Given the description of an element on the screen output the (x, y) to click on. 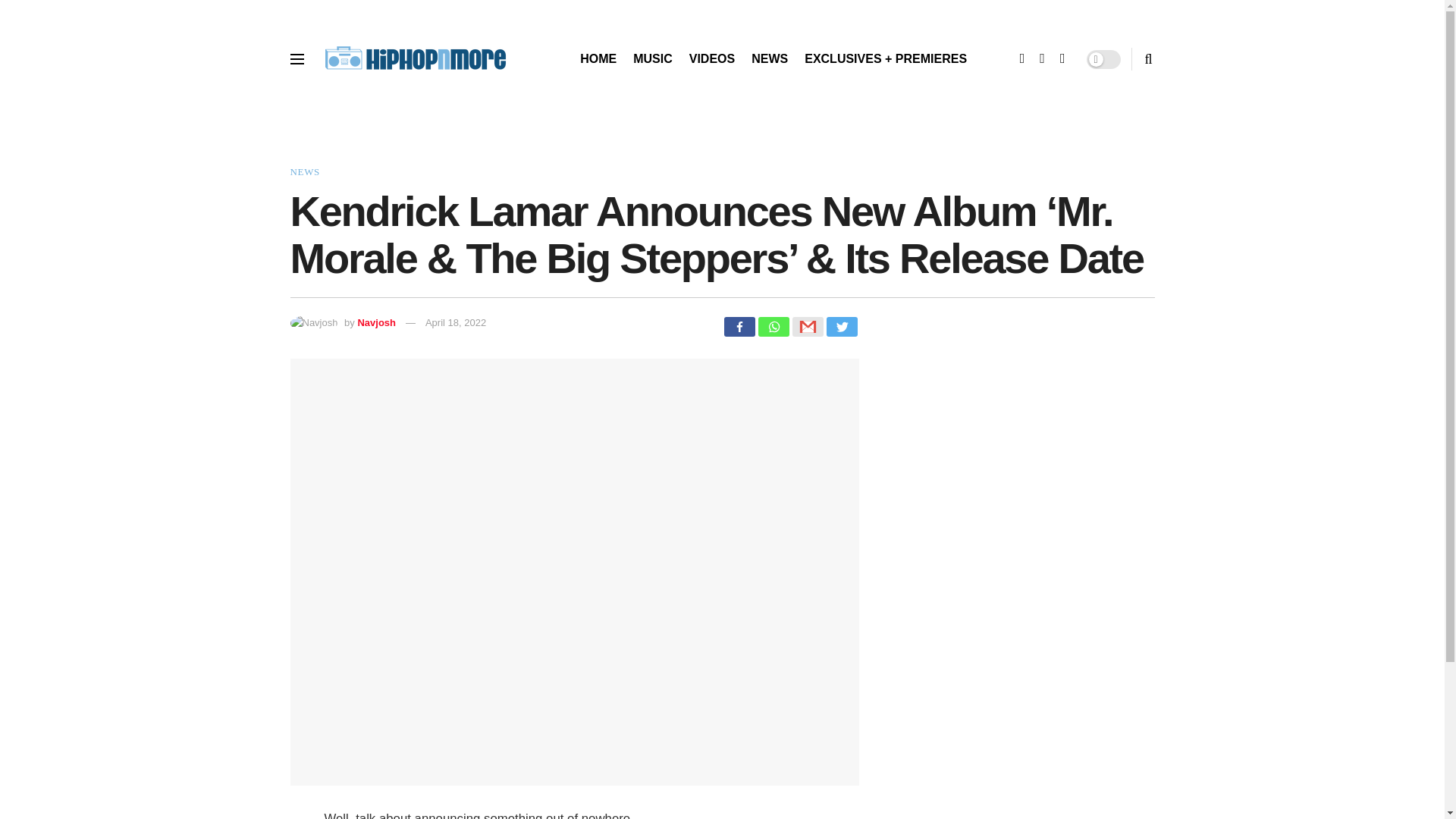
Twitter (842, 326)
MUSIC (652, 58)
Facebook (738, 326)
NEWS (769, 58)
Navjosh (376, 322)
Whatsapp (773, 326)
April 18, 2022 (455, 322)
NEWS (303, 171)
VIDEOS (711, 58)
Google Gmail (807, 326)
